Given the description of an element on the screen output the (x, y) to click on. 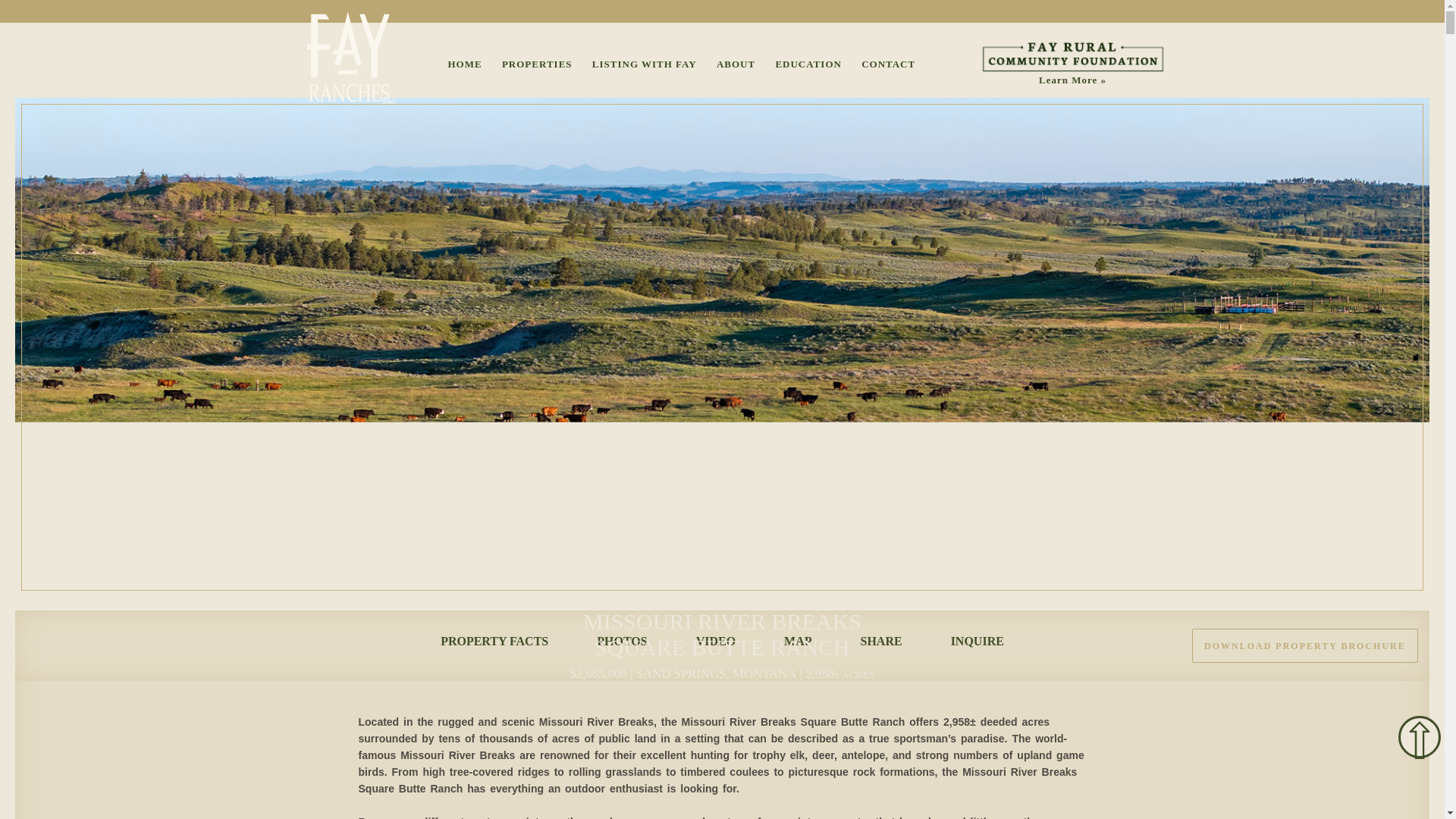
Back to Top (1419, 736)
PROPERTIES (537, 63)
Ranches For Sale (537, 63)
HOME (463, 63)
